Given the description of an element on the screen output the (x, y) to click on. 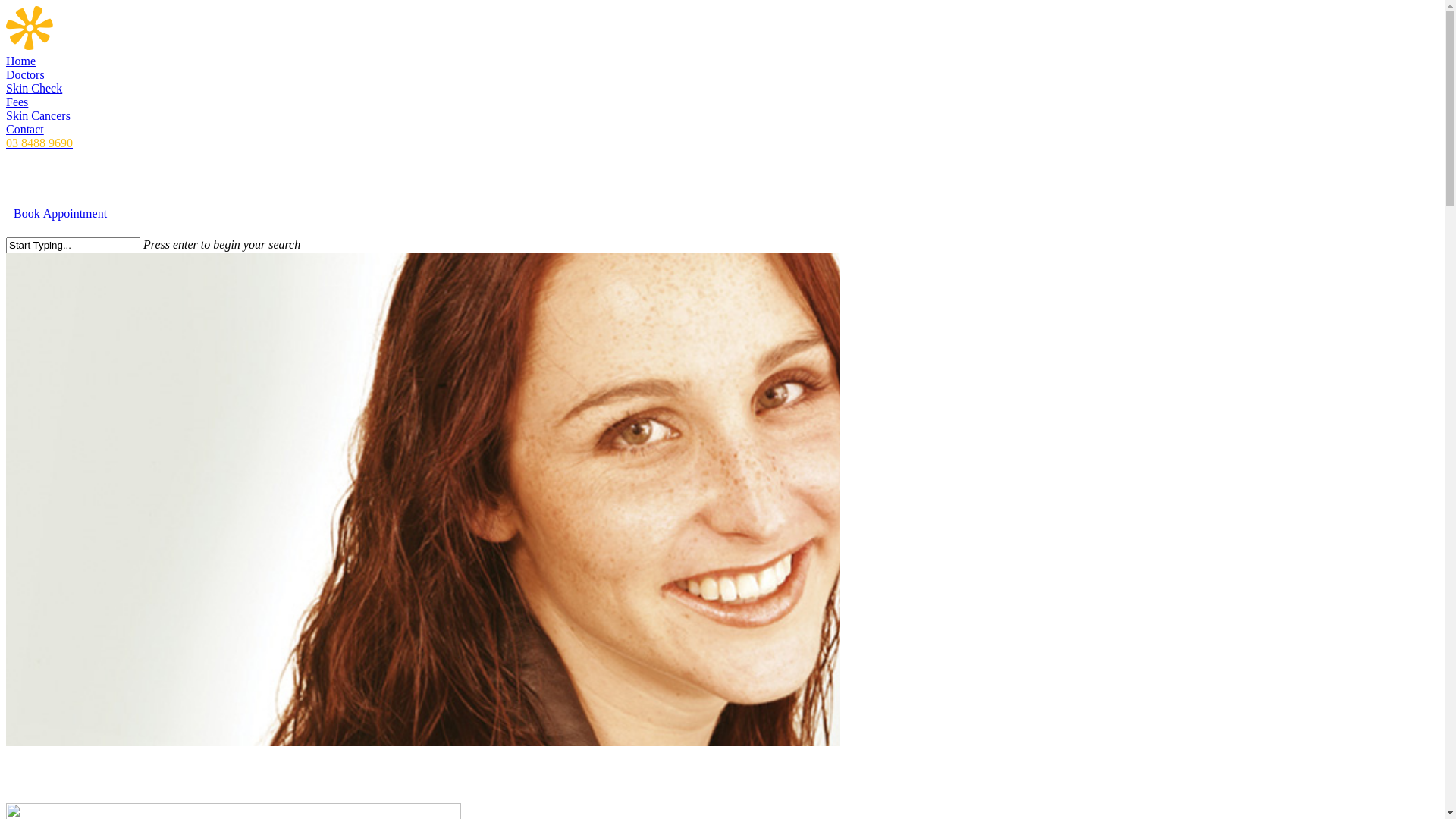
Skin Check Element type: text (34, 87)
Skin Cancers Element type: text (38, 115)
Contact Element type: text (24, 128)
Doctors Element type: text (25, 74)
Home Element type: text (20, 60)
Fees Element type: text (17, 101)
03 8488 9690 Element type: text (39, 143)
Book Appointment Element type: text (59, 213)
Skip to main content Element type: text (5, 5)
